Given the description of an element on the screen output the (x, y) to click on. 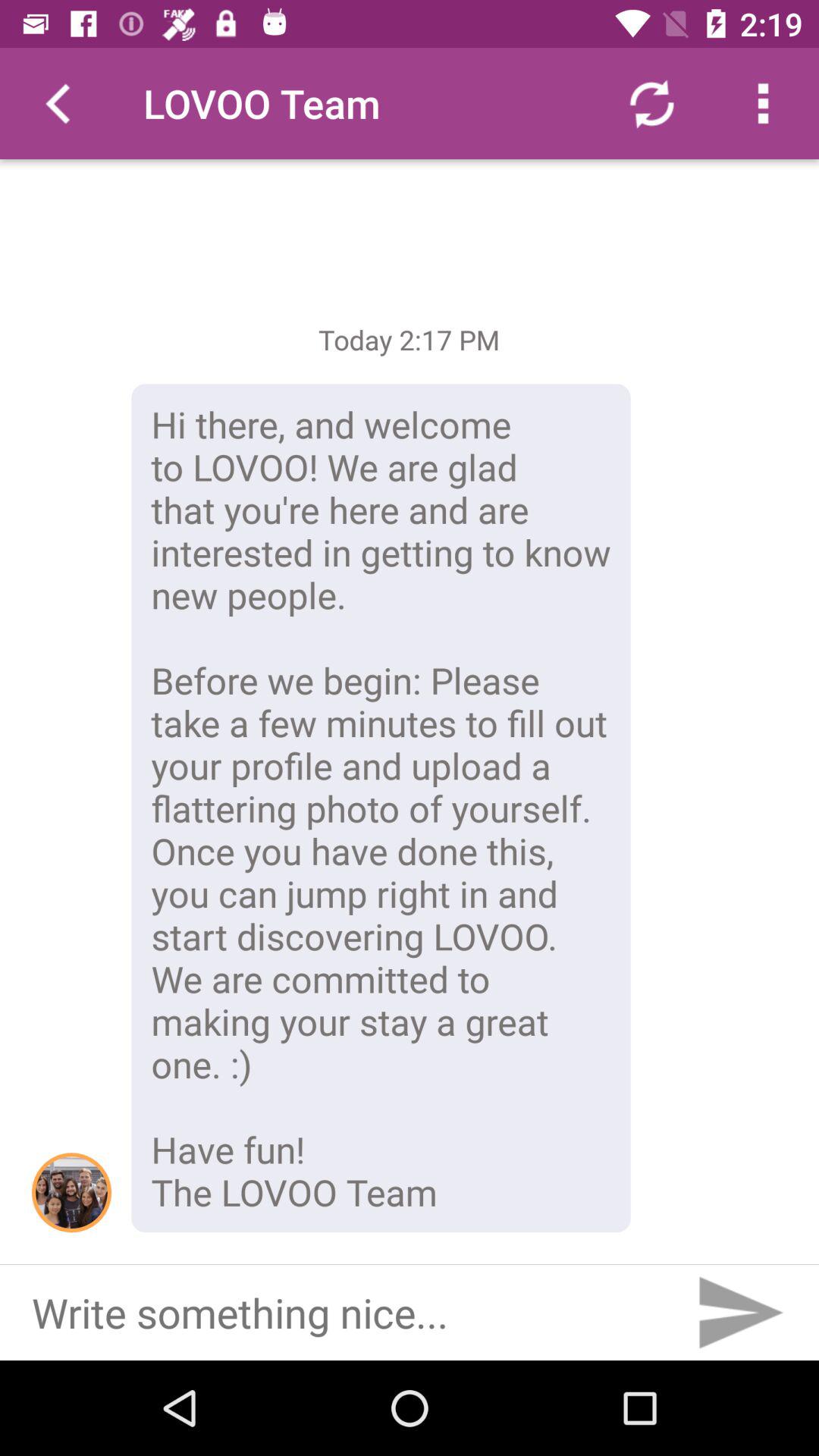
tap the icon at the bottom left corner (71, 1192)
